Given the description of an element on the screen output the (x, y) to click on. 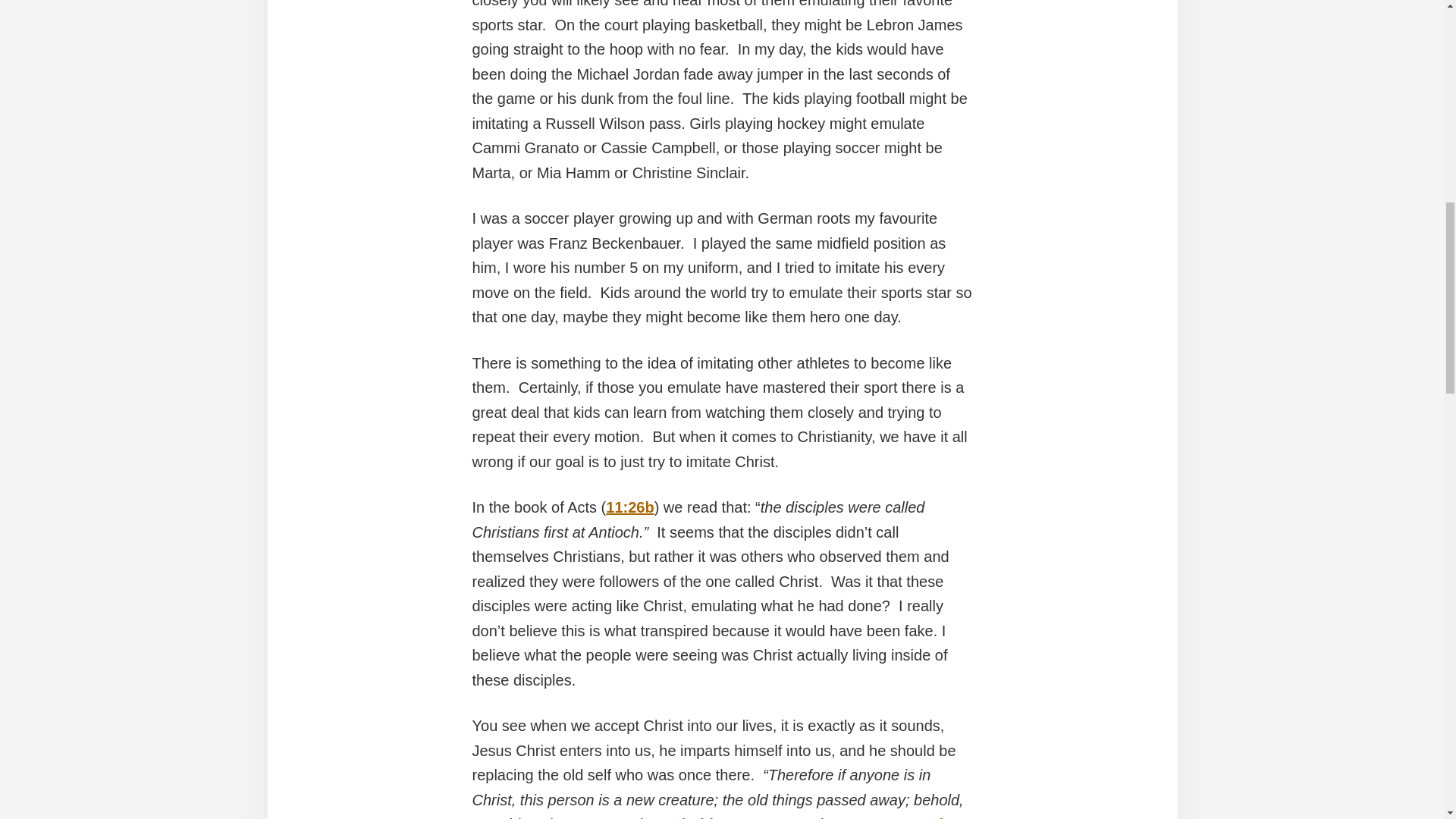
2 Corinthians 5:17 NASB (731, 817)
11:26b (629, 506)
